Given the description of an element on the screen output the (x, y) to click on. 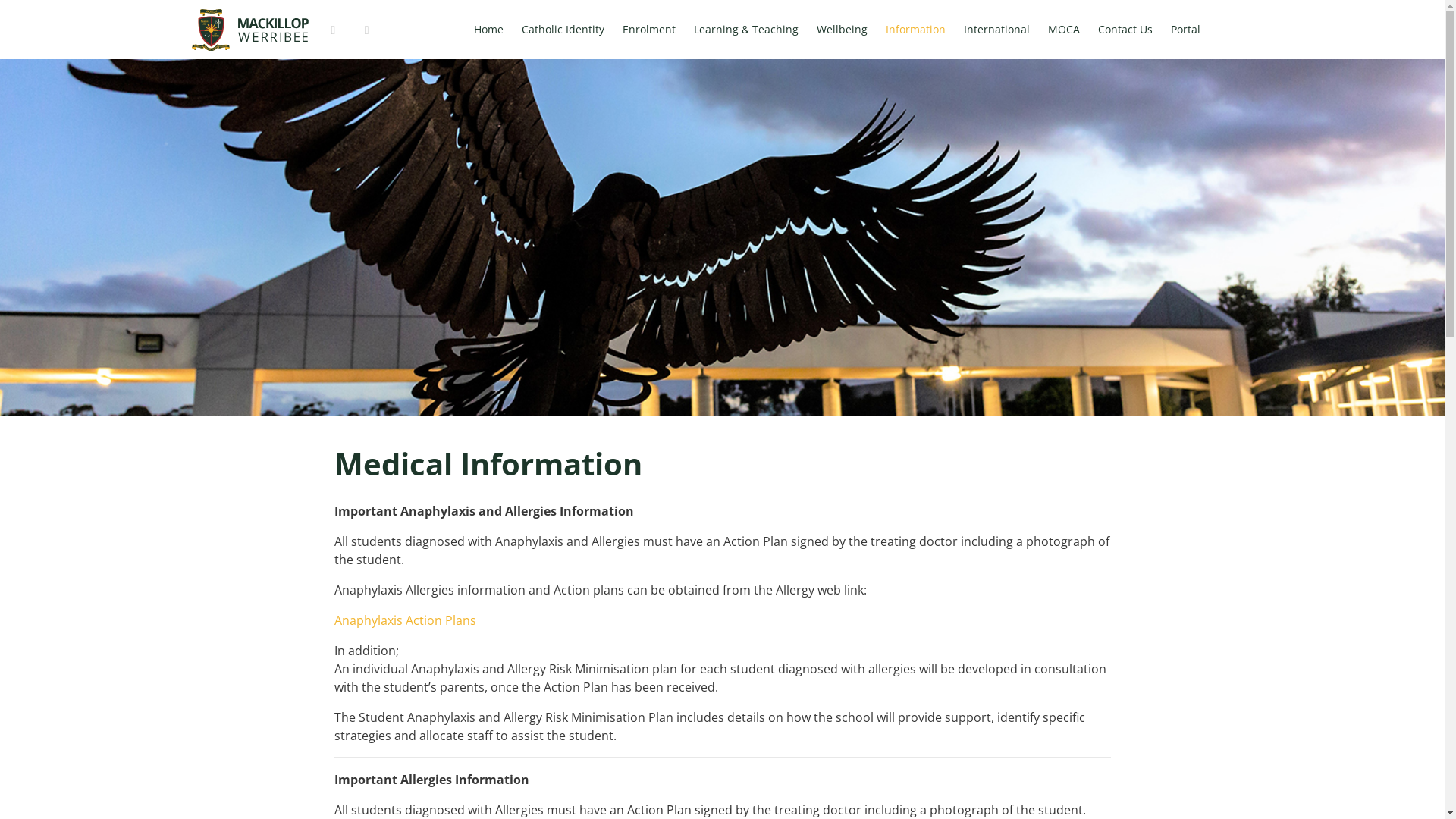
Anaphylaxis Action Plans Element type: text (404, 619)
Information Element type: text (915, 29)
Contact Us Element type: text (1125, 29)
Learning & Teaching Element type: text (745, 29)
International Element type: text (996, 29)
MOCA Element type: text (1063, 29)
Home Element type: text (487, 29)
Wellbeing Element type: text (840, 29)
Portal Element type: text (1185, 29)
Catholic Identity Element type: text (562, 29)
Enrolment Element type: text (647, 29)
